Given the description of an element on the screen output the (x, y) to click on. 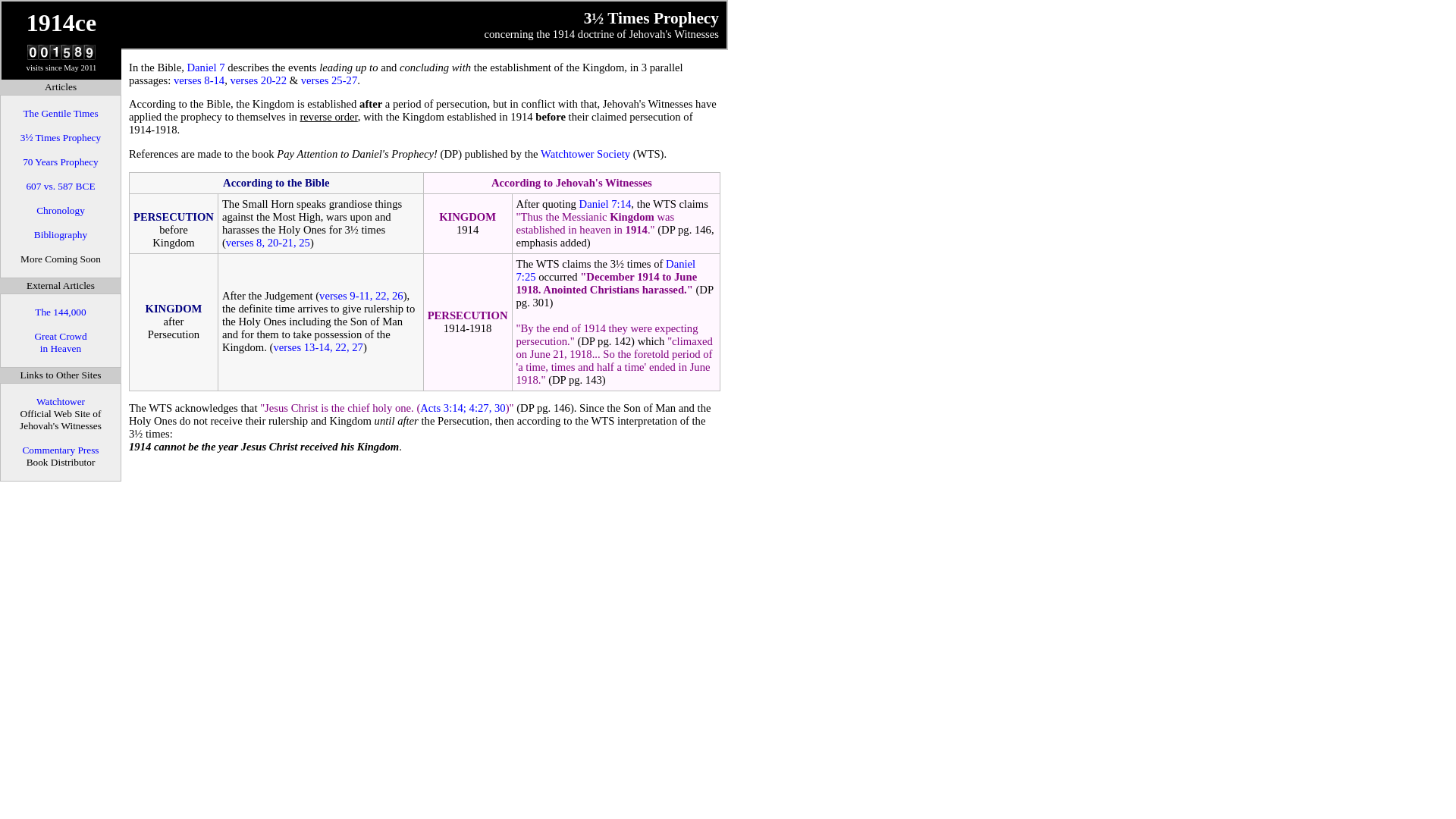
verses 20-22 Element type: text (258, 80)
Chronology Element type: text (60, 210)
The 144,000 Element type: text (59, 311)
Bibliography Element type: text (60, 234)
verses 25-27 Element type: text (329, 80)
verses 8-14 Element type: text (198, 80)
verses 9-11, 22, 26 Element type: text (361, 295)
Great Crowd
in Heaven Element type: text (60, 342)
607 vs. 587 BCE Element type: text (59, 185)
verses 8, 20-21, 25 Element type: text (267, 242)
Watchtower Society Element type: text (585, 153)
verses 13-14, 22, 27 Element type: text (317, 347)
Watchtower Element type: text (60, 401)
70 Years Prophecy Element type: text (60, 161)
Daniel 7 Element type: text (206, 67)
The Gentile Times Element type: text (59, 113)
Daniel 7:25 Element type: text (606, 269)
Daniel 7:14 Element type: text (605, 203)
Acts 3:14; 4:27, 30 Element type: text (462, 407)
Commentary Press Element type: text (59, 449)
